Given the description of an element on the screen output the (x, y) to click on. 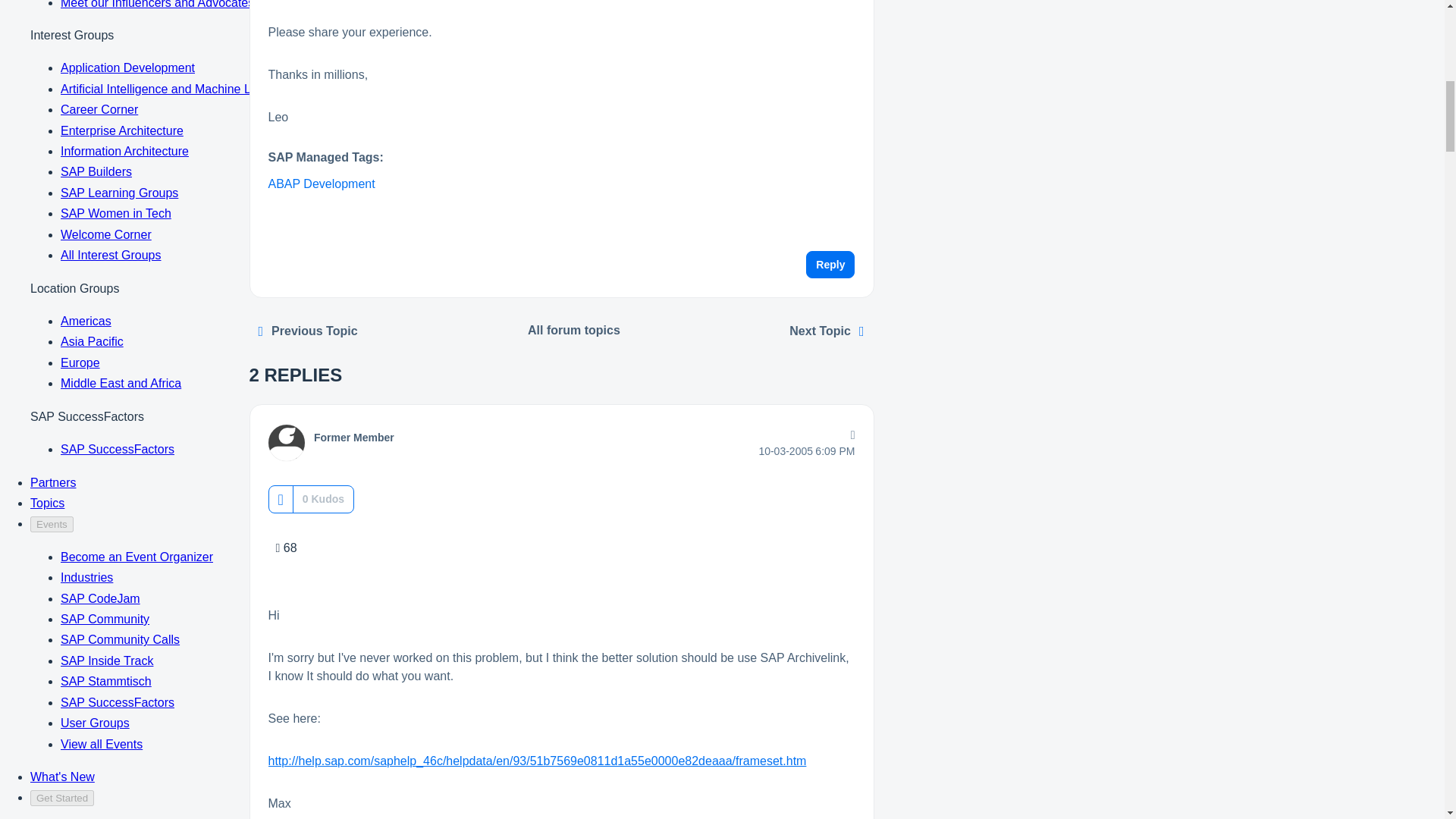
All forum topics (574, 330)
Reply (830, 264)
ABAP Development (321, 183)
Application Development Discussions (574, 330)
What are the field names for below mentioned (825, 331)
Next Topic (825, 331)
Previous Topic (308, 331)
